Given the description of an element on the screen output the (x, y) to click on. 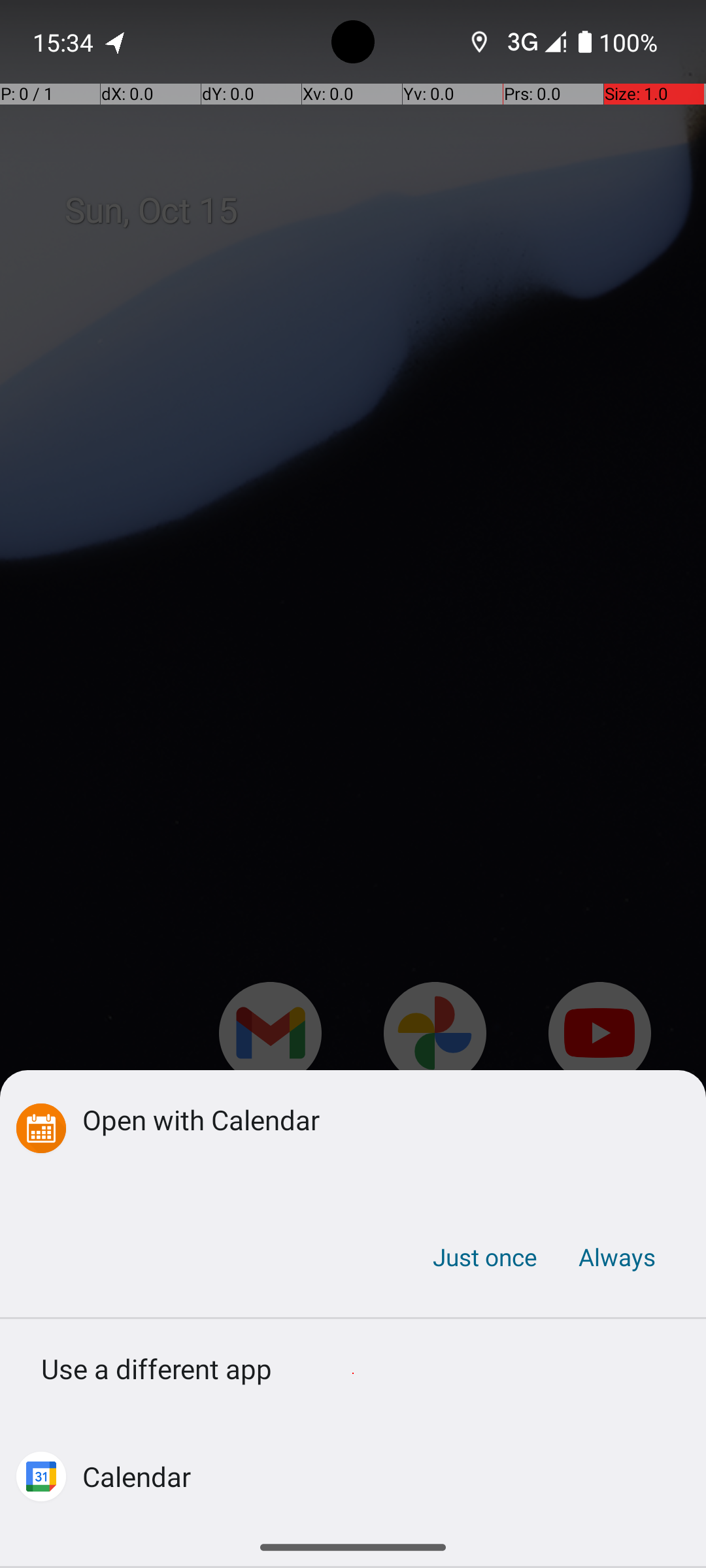
Open with Calendar Element type: android.widget.TextView (373, 1119)
Just once Element type: android.widget.Button (484, 1256)
Always Element type: android.widget.Button (616, 1256)
Use a different app Element type: android.widget.TextView (353, 1373)
Calendar Element type: android.widget.TextView (136, 1475)
OpenTracks notification: Distance: 0.00 ft Element type: android.widget.ImageView (115, 41)
Location requests active Element type: android.widget.ImageView (479, 41)
